Given the description of an element on the screen output the (x, y) to click on. 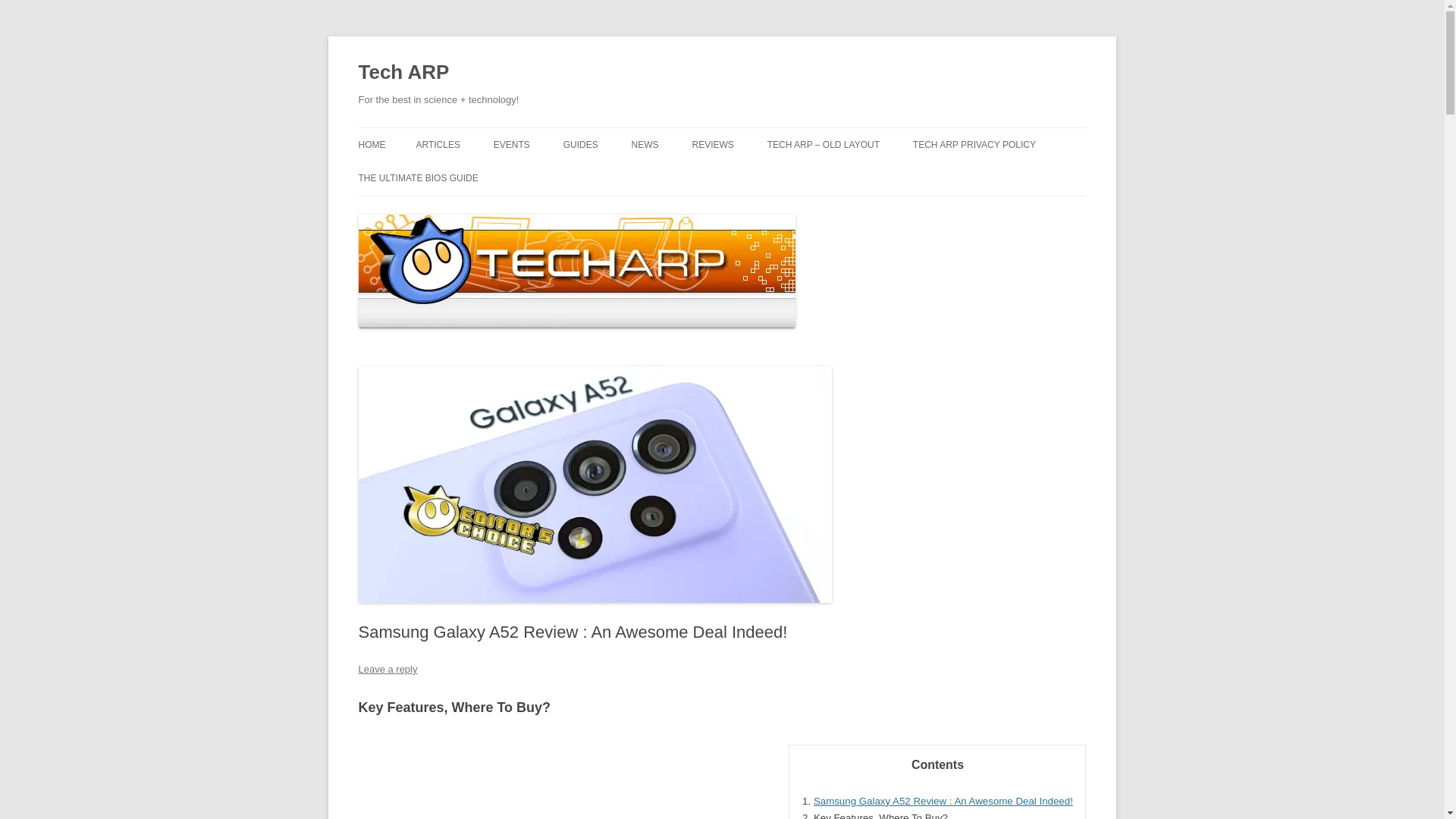
Samsung Galaxy A52 Review : An Awesome Deal Indeed! (943, 799)
EVENTS (511, 144)
Tech ARP (403, 72)
Leave a reply (387, 668)
GUIDES (580, 144)
REVIEWS (712, 144)
TECH ARP PRIVACY POLICY (973, 144)
ARTICLES (437, 144)
THE ULTIMATE BIOS GUIDE (417, 177)
